Given the description of an element on the screen output the (x, y) to click on. 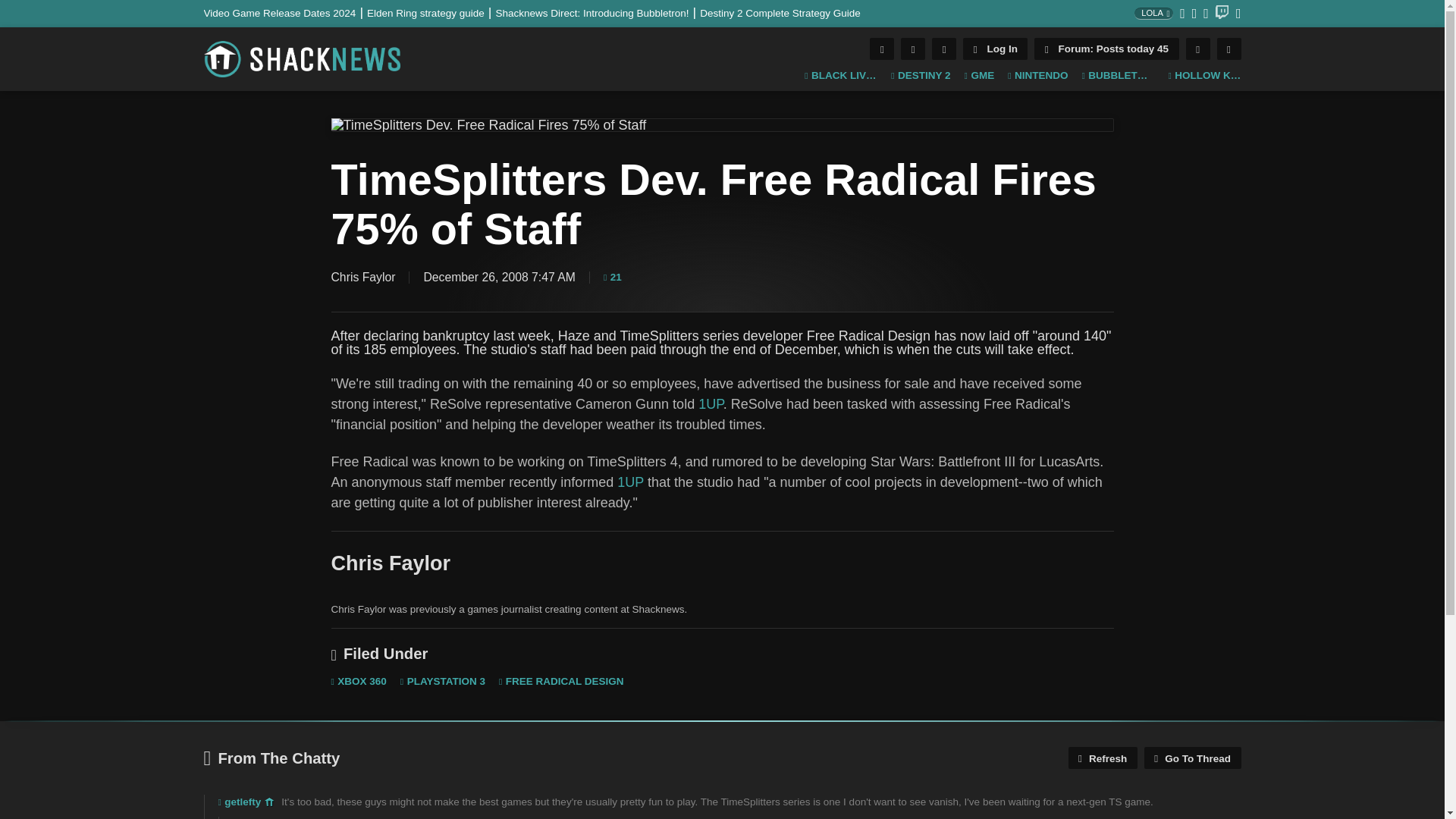
DESTINY 2 (920, 75)
HOLLOW KNIGHT: SILKSONG (1203, 75)
BUBBLETRON (1117, 75)
BLACK LIVES MATTER (841, 75)
legacy 10 years (269, 801)
Destiny 2 Complete Strategy Guide (780, 11)
Elden Ring strategy guide (430, 11)
21 (612, 276)
GME (978, 75)
Chris Faylor (362, 277)
Shacknews Direct: Introducing Bubbletron! (597, 11)
NINTENDO (1037, 75)
Video Game Release Dates 2024 (284, 11)
